Given the description of an element on the screen output the (x, y) to click on. 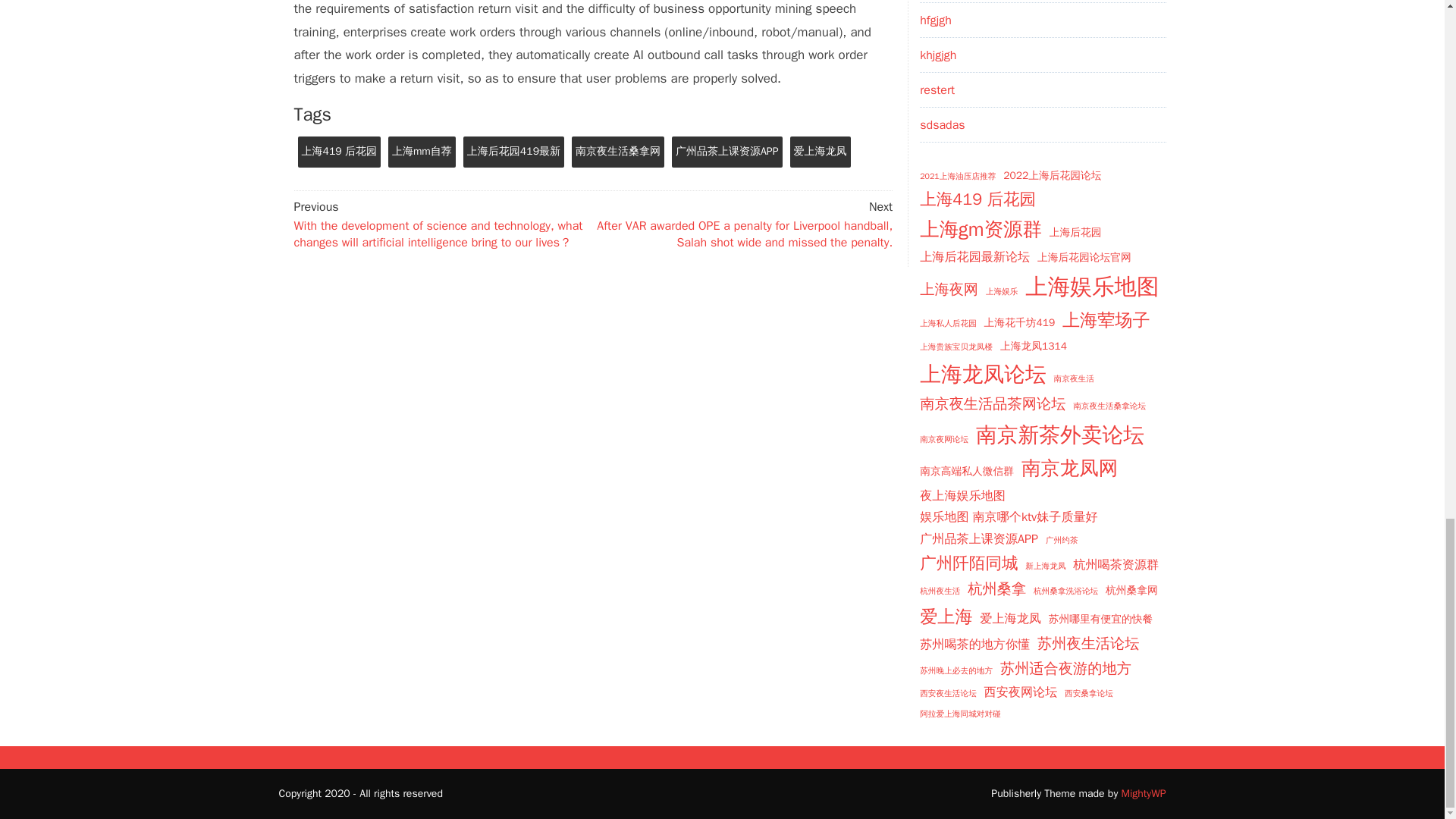
restert (937, 89)
sdsadas (941, 124)
hfgjgh (936, 20)
khjgjgh (938, 55)
